Given the description of an element on the screen output the (x, y) to click on. 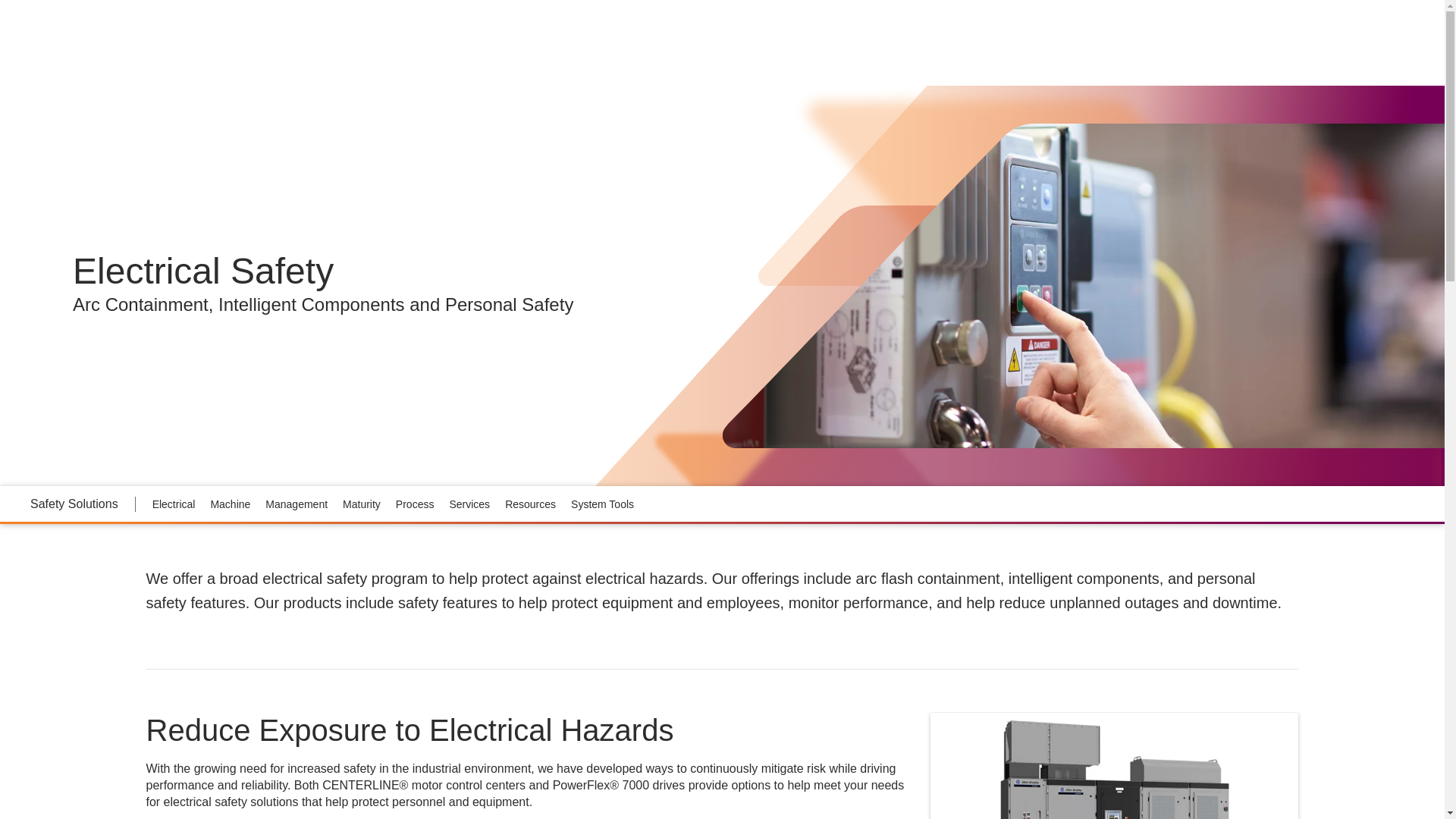
Electrical (173, 503)
Management (295, 503)
Resources (530, 503)
Services (469, 503)
Maturity (361, 503)
Safety Solutions (73, 503)
Machine (229, 503)
System Tools (602, 503)
Process (415, 503)
